Given the description of an element on the screen output the (x, y) to click on. 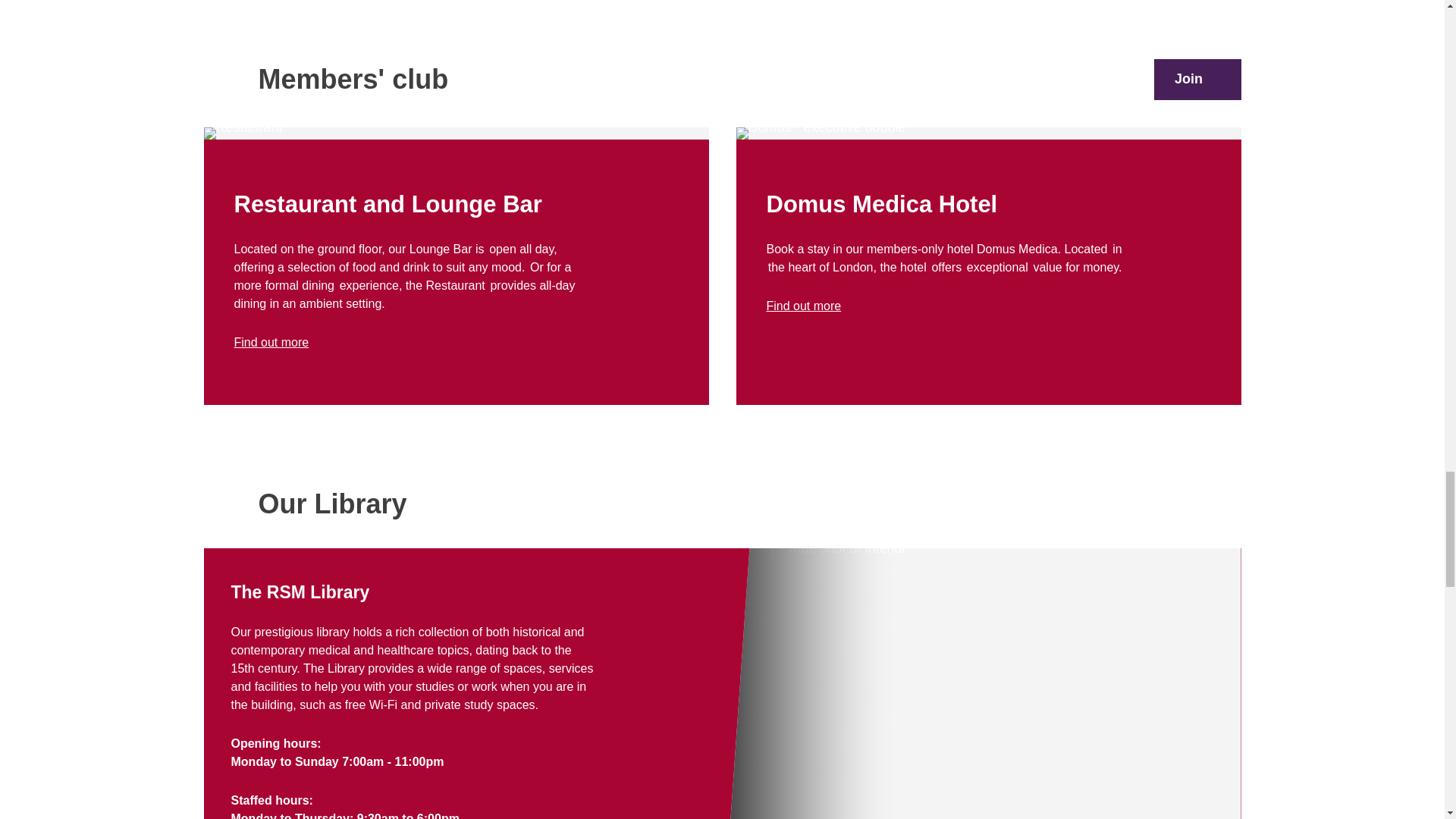
Restaurant and Lounge Bar (270, 341)
Domus Medica (803, 305)
